Given the description of an element on the screen output the (x, y) to click on. 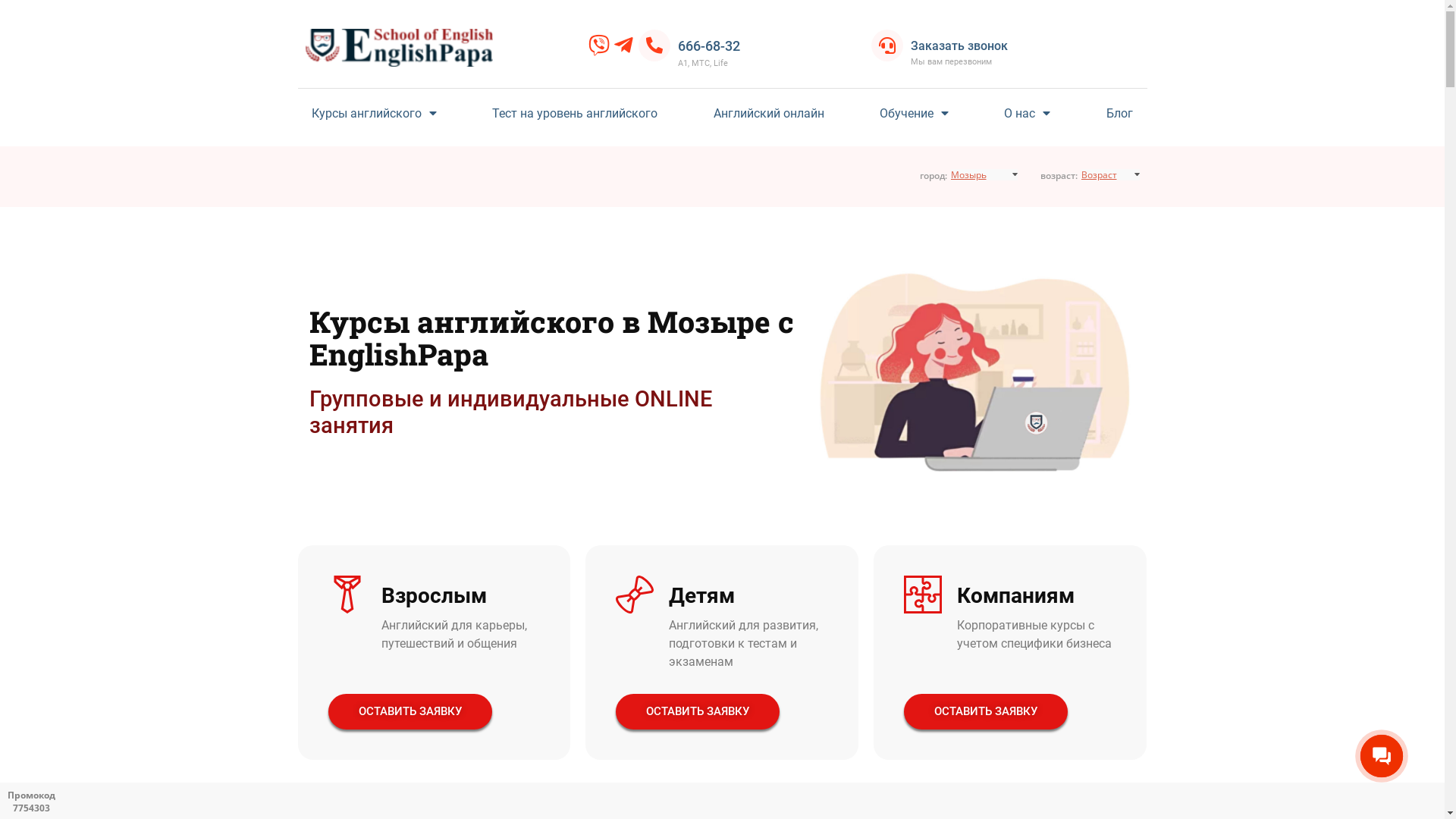
666-68-32 Element type: text (708, 45)
